Given the description of an element on the screen output the (x, y) to click on. 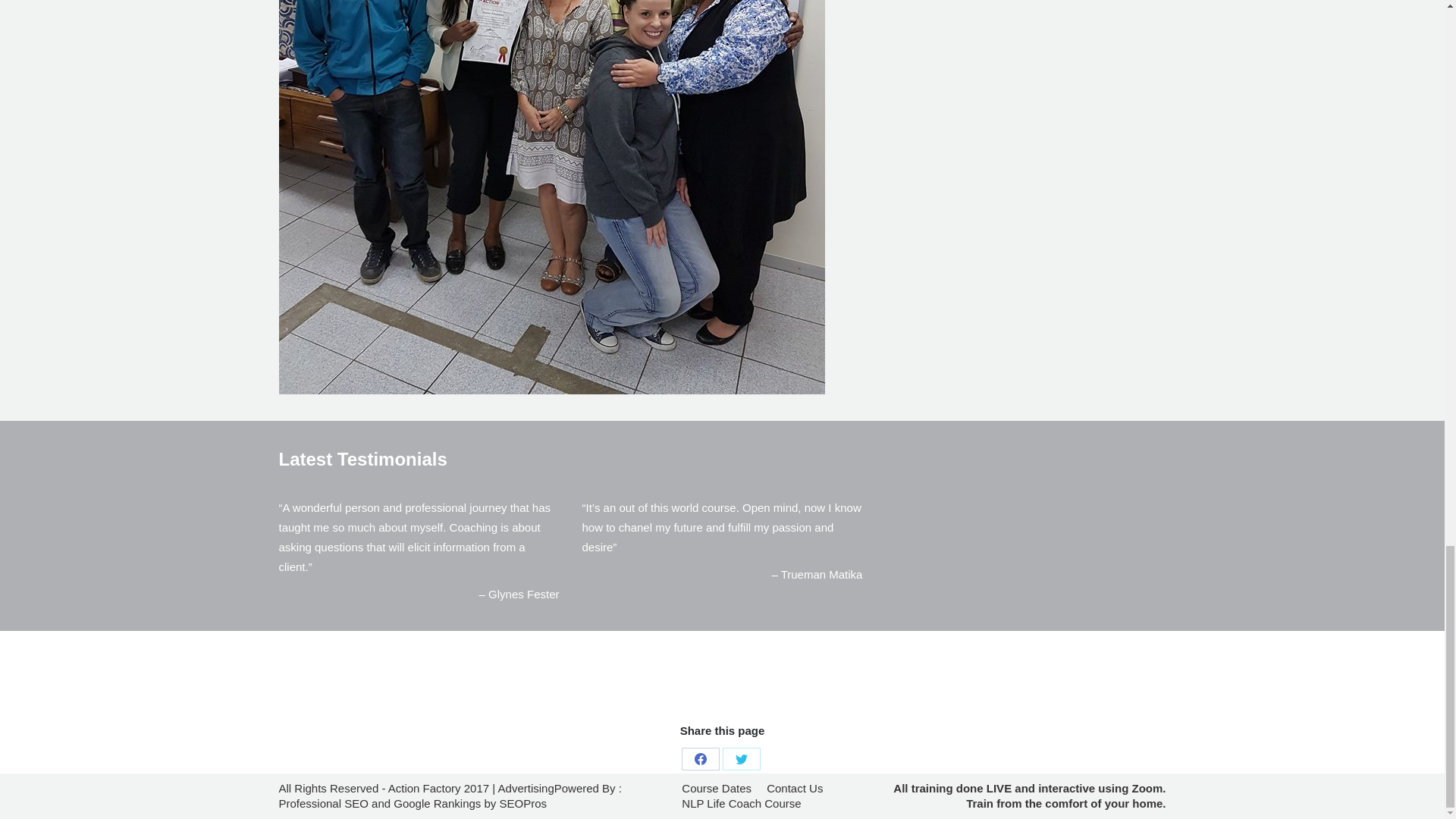
Community newspaper advertising rates and prices (525, 788)
Contact Us (794, 788)
Course Dates (716, 788)
Advertising (525, 788)
Facebook (700, 758)
Share on Twitter (741, 758)
SEOPros (523, 802)
Share on Facebook (700, 758)
NLP Life Coach Course (740, 803)
Twitter (741, 758)
